Given the description of an element on the screen output the (x, y) to click on. 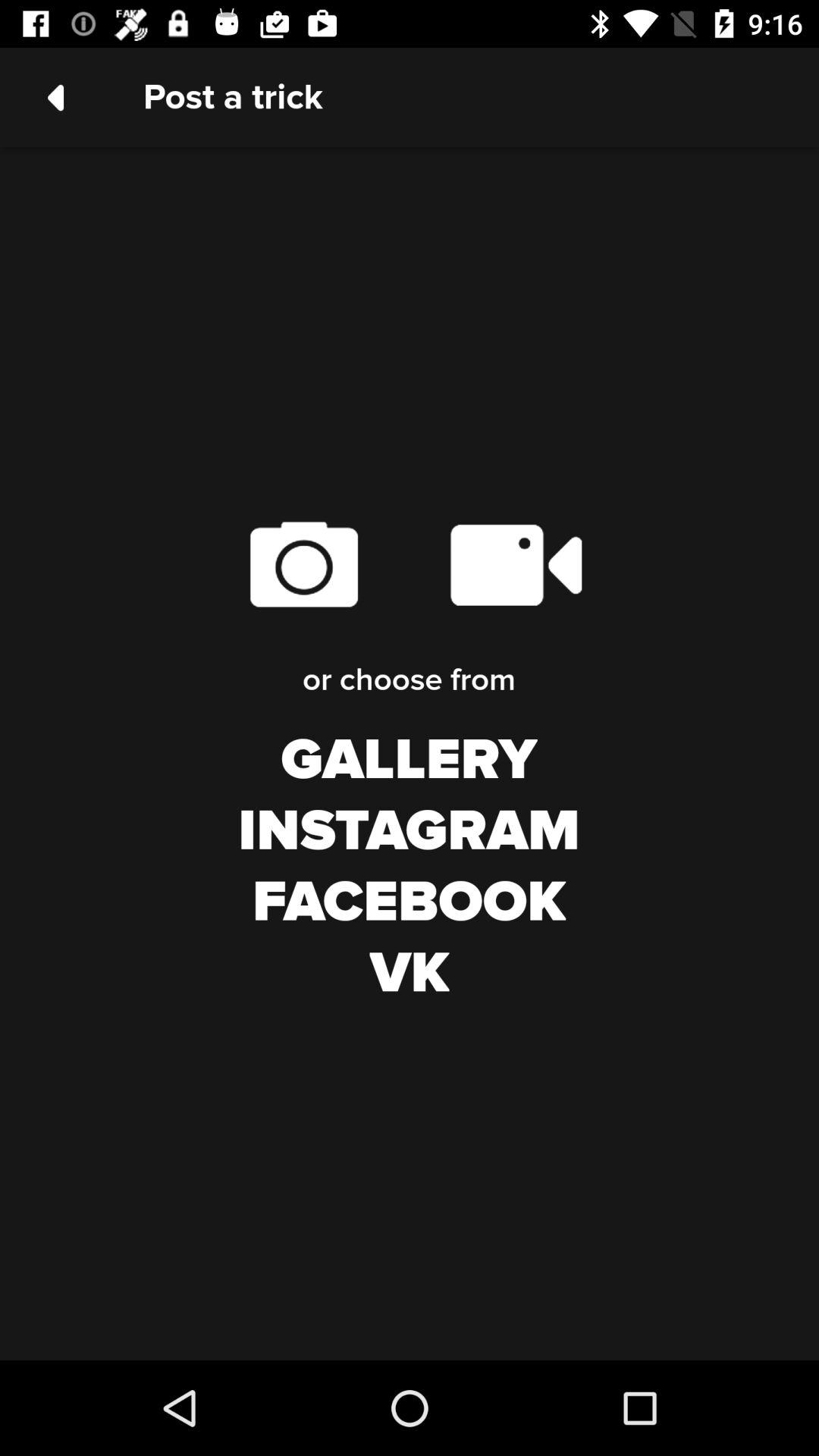
jump to the facebook item (408, 902)
